Given the description of an element on the screen output the (x, y) to click on. 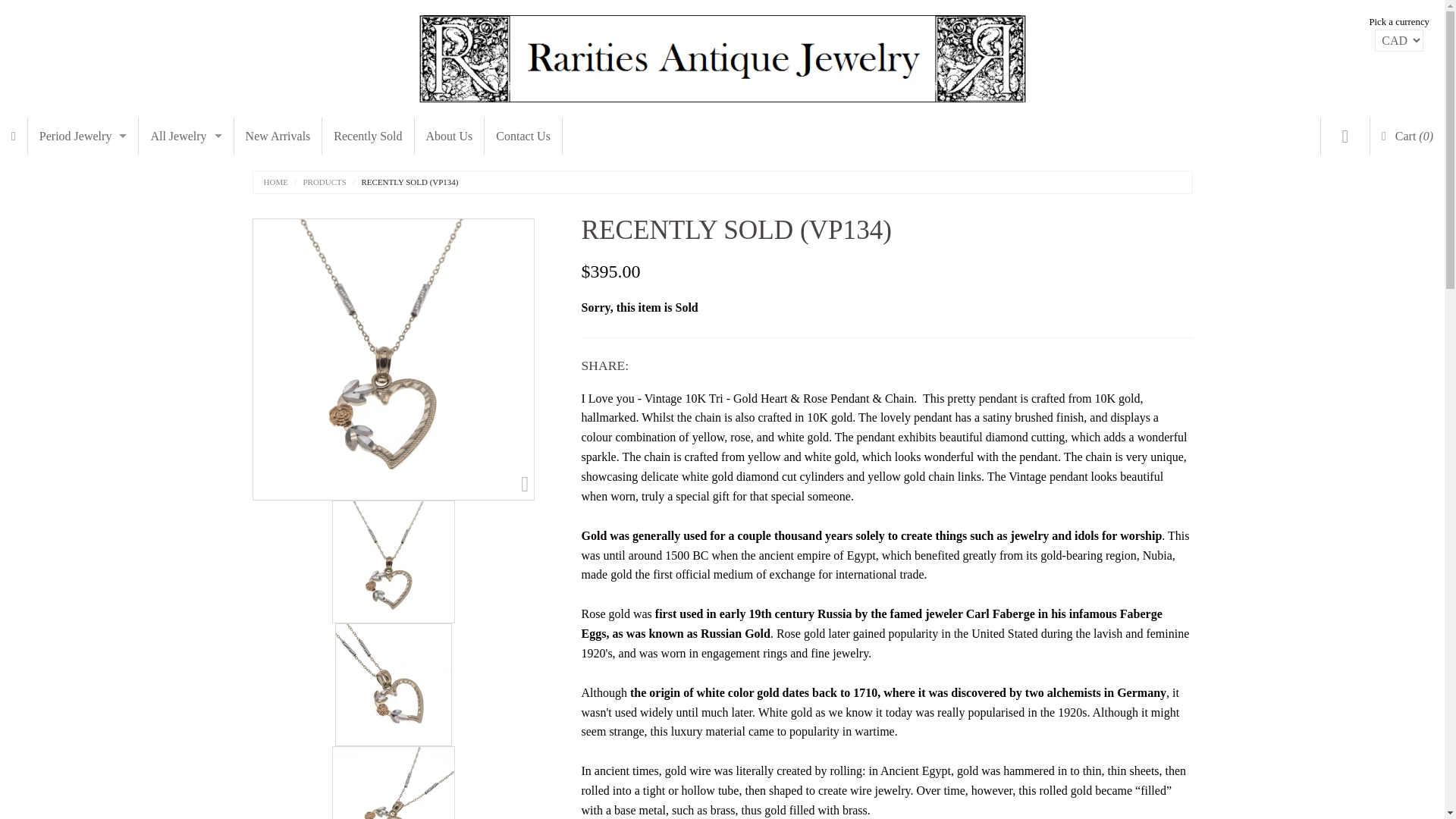
Contact Us (523, 135)
HOME (275, 182)
Period Jewelry (82, 135)
About Us (449, 135)
New Arrivals (277, 135)
PRODUCTS (317, 182)
Rarities Antique Jewelry (722, 55)
All Jewelry (185, 135)
Recently Sold (367, 135)
